Given the description of an element on the screen output the (x, y) to click on. 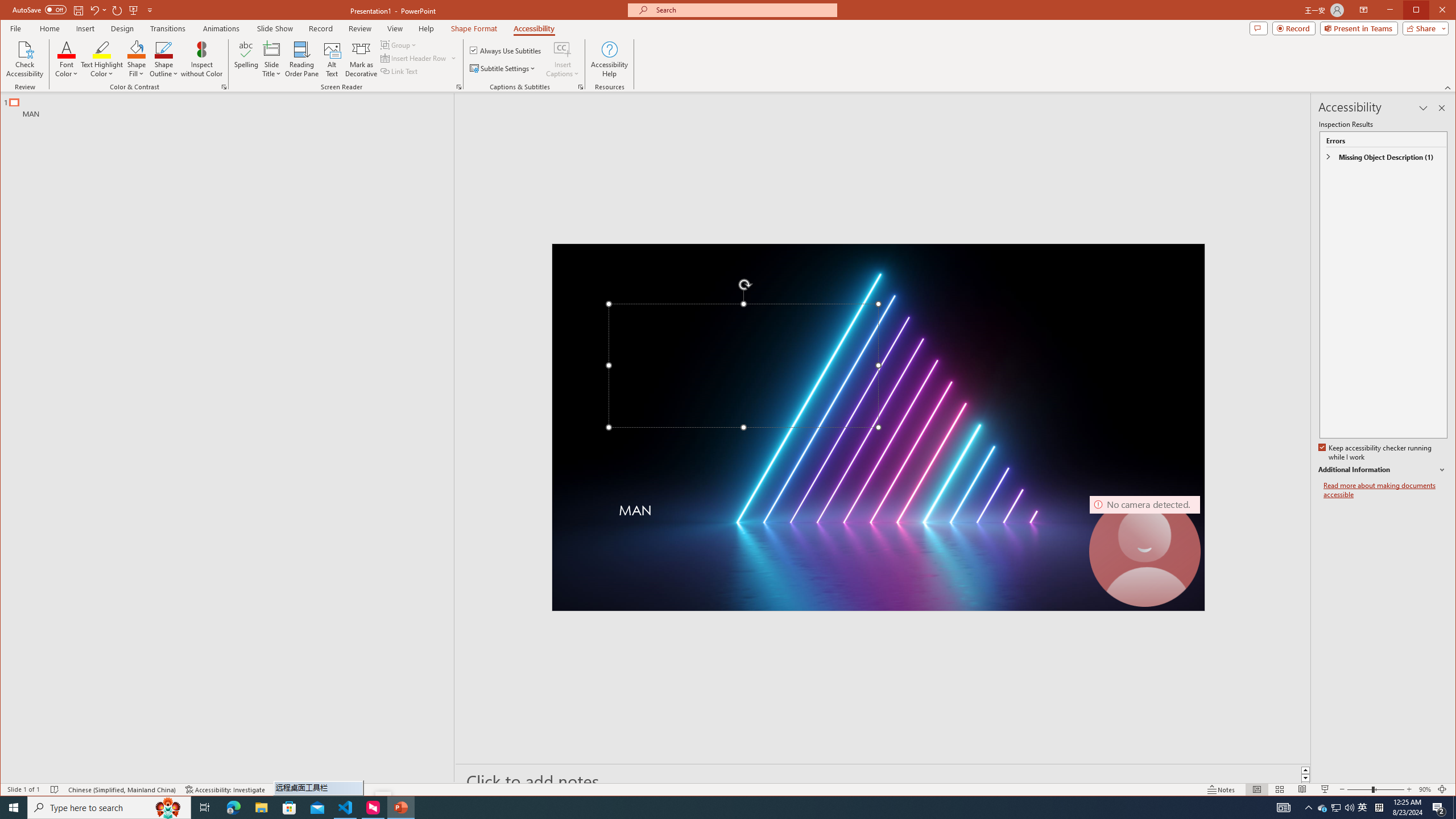
Always Use Subtitles (505, 49)
Spelling... (246, 59)
